Given the description of an element on the screen output the (x, y) to click on. 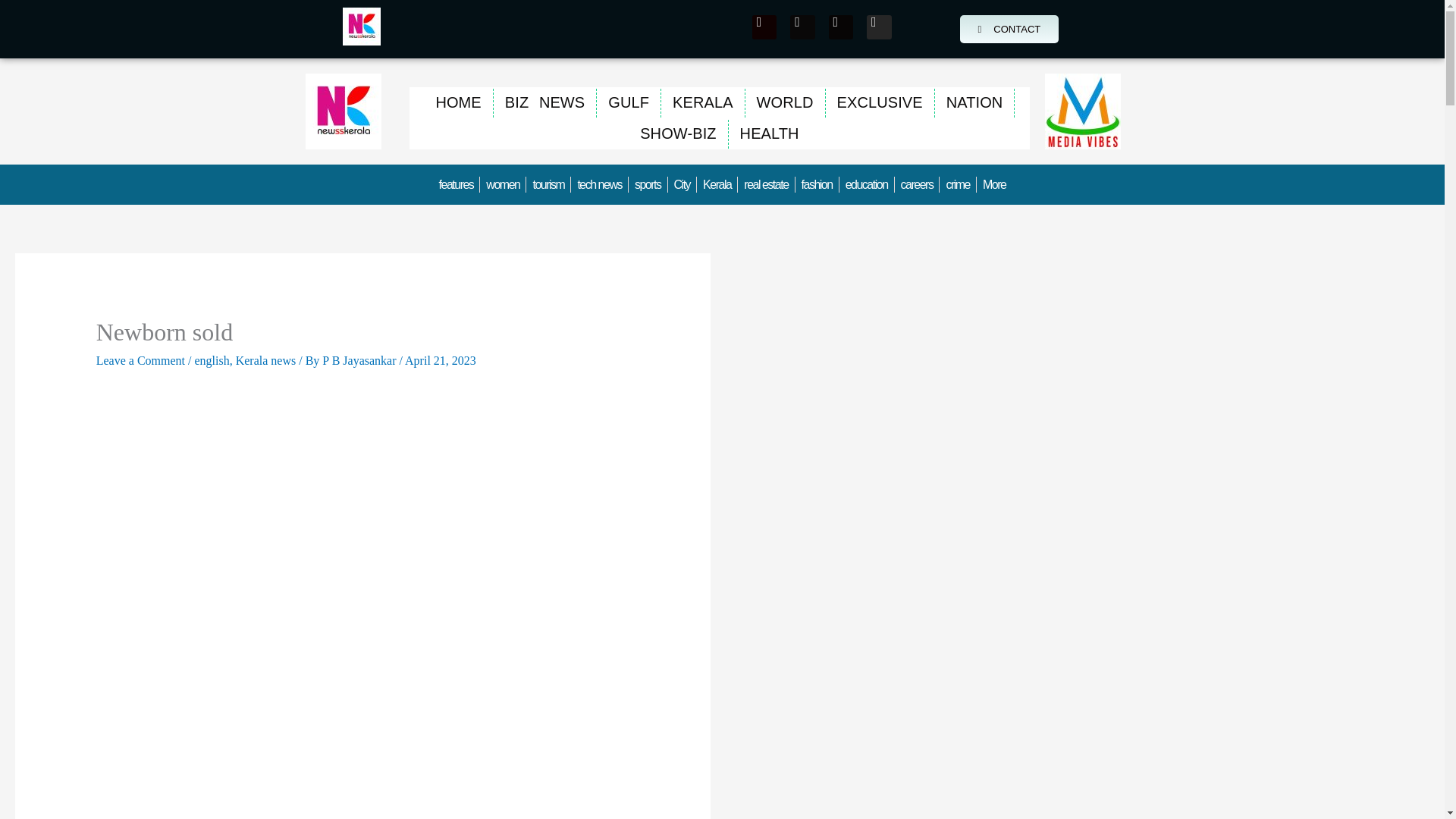
City (682, 184)
GULF (628, 101)
SHOW-BIZ (677, 133)
KERALA (702, 101)
NATION (974, 101)
tourism (547, 184)
EXCLUSIVE (879, 101)
tech news (598, 184)
features (456, 184)
CONTACT (1009, 29)
